Given the description of an element on the screen output the (x, y) to click on. 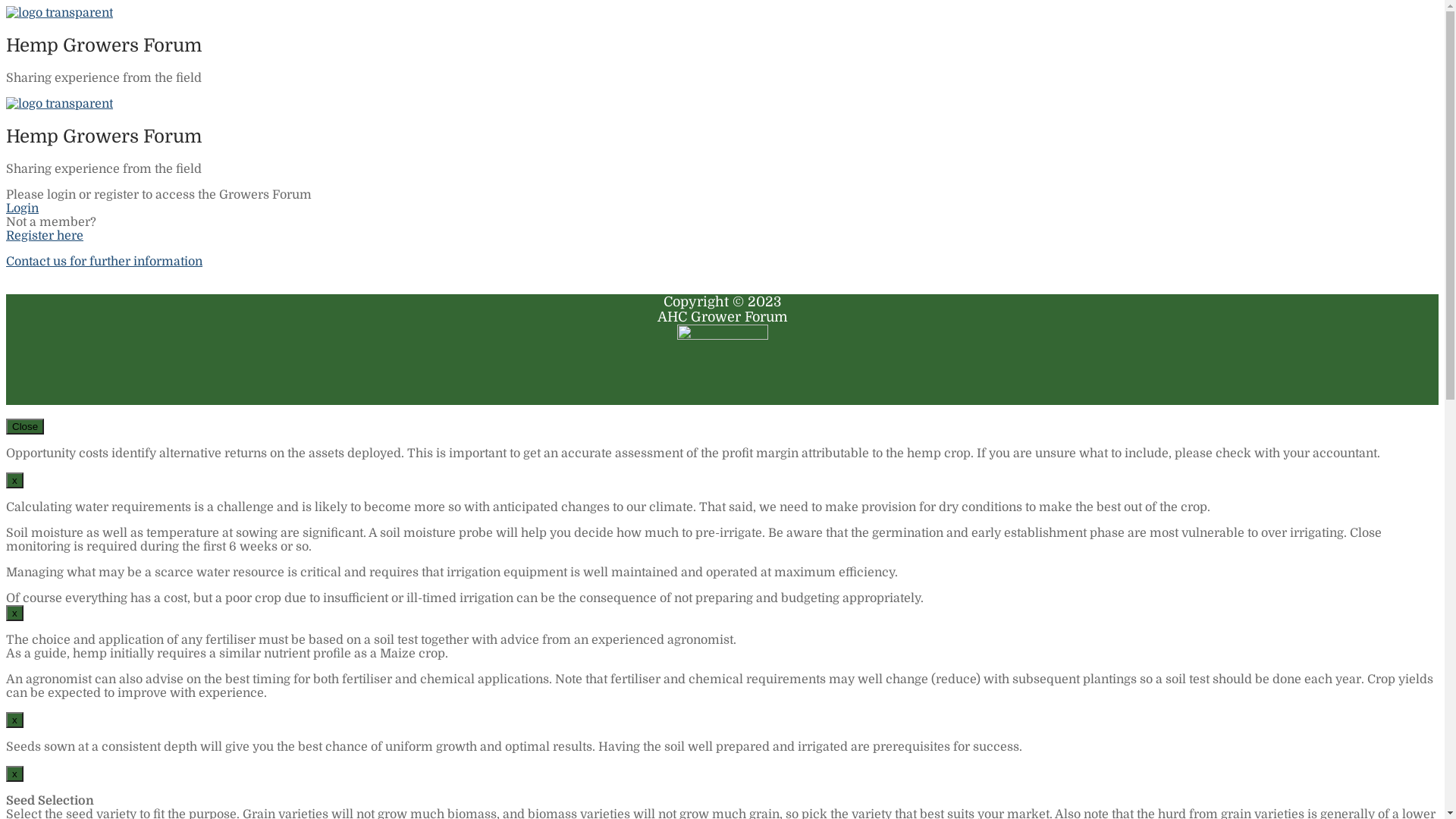
Login Element type: text (22, 208)
x Element type: text (14, 480)
x Element type: text (14, 720)
Close Element type: text (24, 426)
Register here Element type: text (44, 235)
Skip to content Element type: text (5, 5)
logo transparent Element type: hover (59, 103)
x Element type: text (14, 613)
Contact us for further information Element type: text (104, 261)
x Element type: text (14, 773)
logo transparent Element type: hover (59, 12)
